Given the description of an element on the screen output the (x, y) to click on. 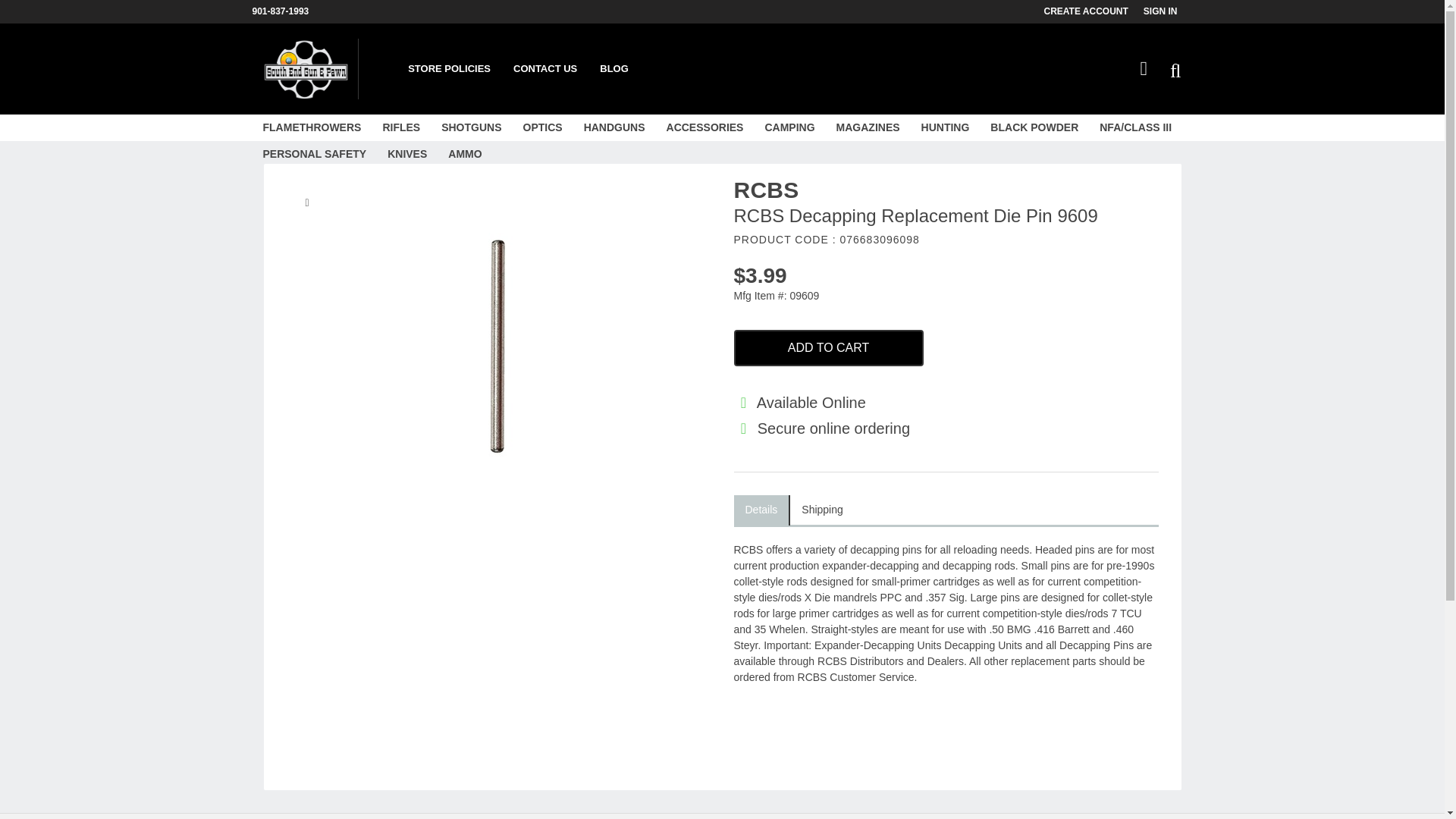
901-837-1993 (287, 11)
FLAMETHROWERS (311, 127)
RIFLES (400, 127)
SIGN IN (1167, 11)
CREATE ACCOUNT (1092, 11)
STORE POLICIES (449, 68)
CONTACT US (545, 68)
